Given the description of an element on the screen output the (x, y) to click on. 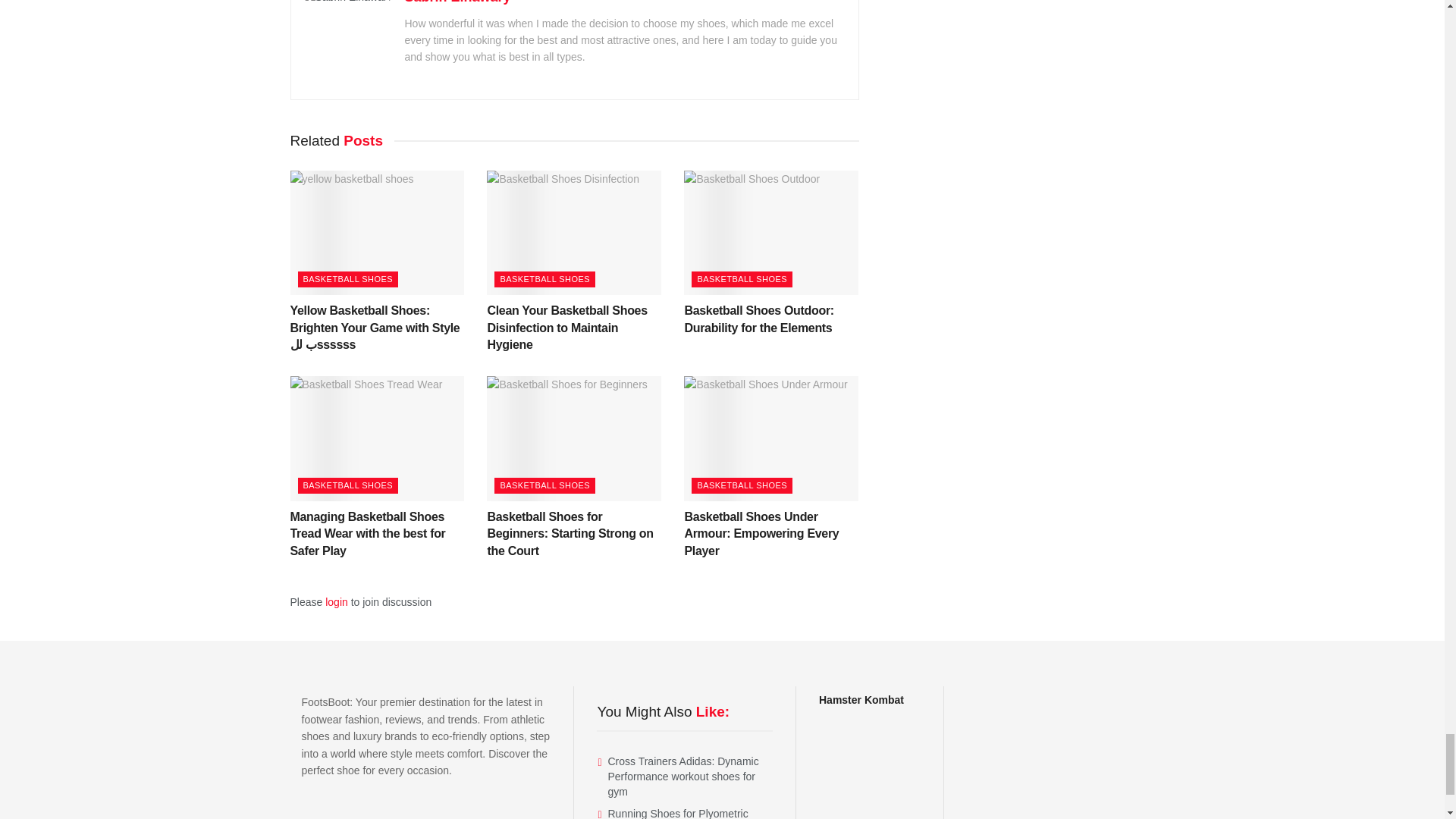
Basketball Shoes Under Armour: Empowering Every Player 12 (771, 437)
Basketball Shoes Outdoor: Durability for the Elements 9 (771, 232)
